Given the description of an element on the screen output the (x, y) to click on. 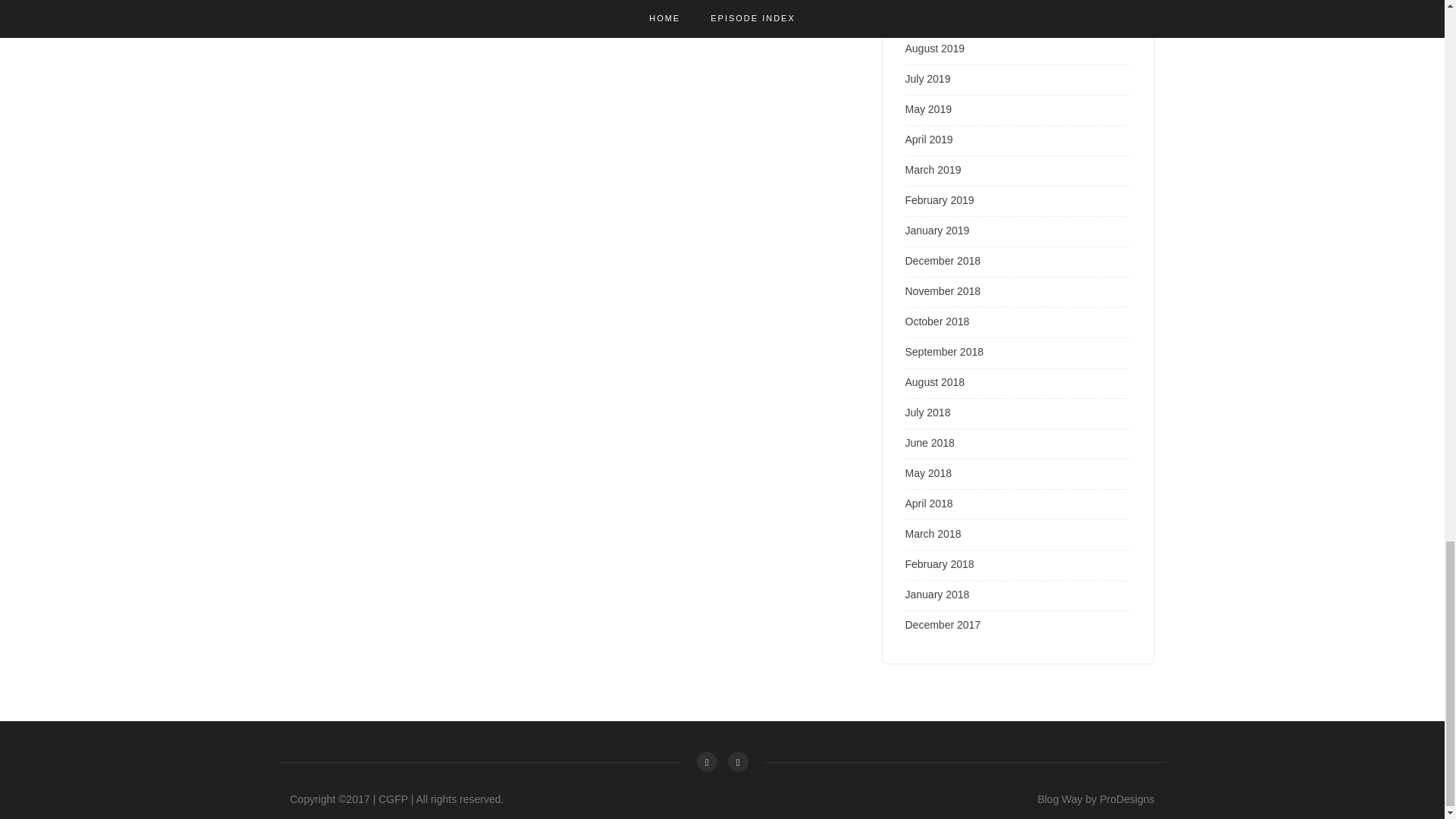
October 2018 (937, 321)
November 2018 (943, 291)
September 2018 (944, 351)
July 2019 (927, 78)
September 2019 (944, 18)
April 2019 (929, 139)
May 2019 (928, 109)
January 2019 (937, 230)
March 2019 (932, 169)
December 2018 (943, 260)
